Given the description of an element on the screen output the (x, y) to click on. 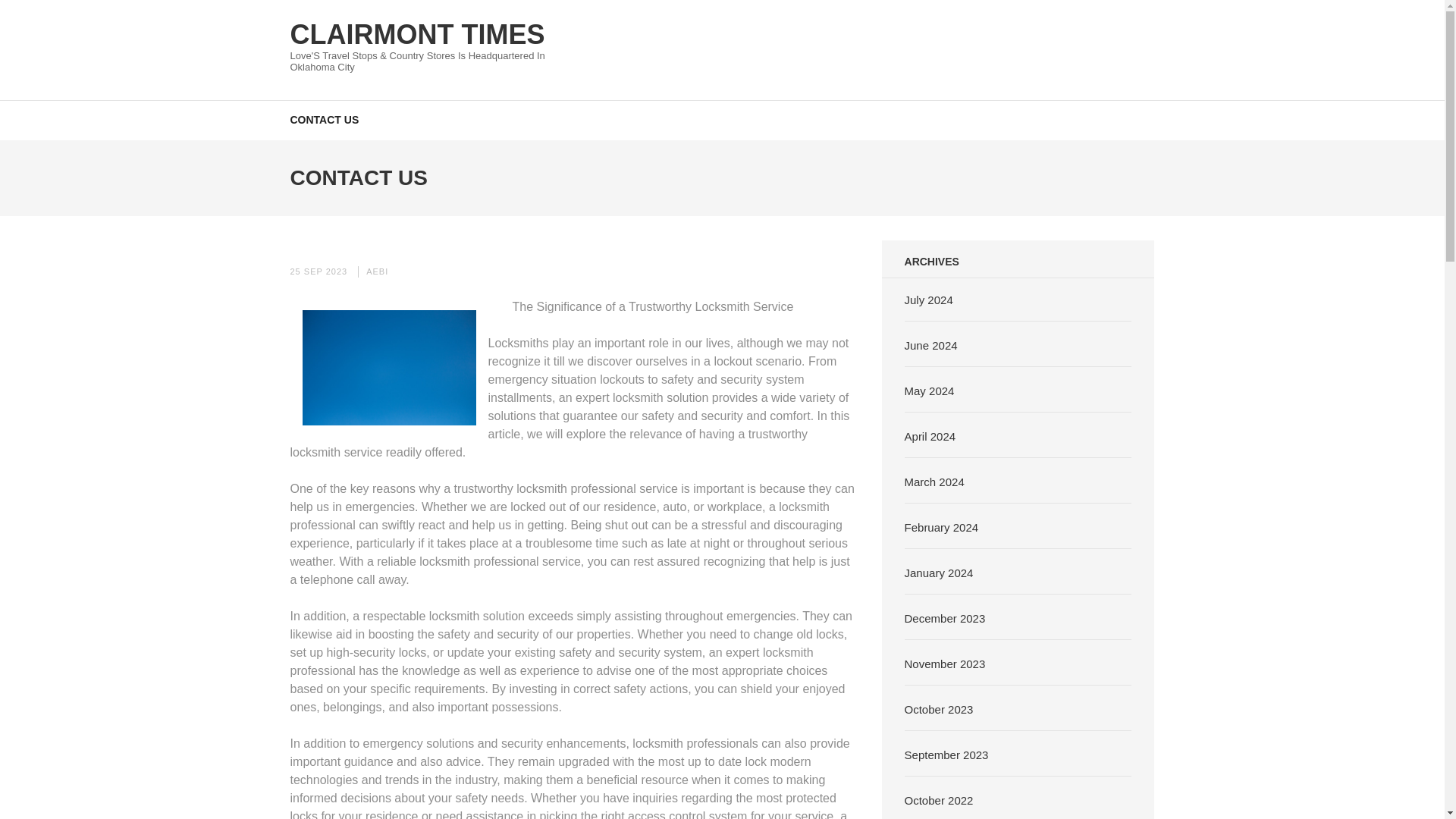
April 2024 (930, 435)
CONTACT US (323, 118)
December 2023 (944, 617)
October 2023 (939, 707)
September 2023 (946, 753)
November 2023 (944, 662)
February 2024 (941, 526)
CLAIRMONT TIMES (416, 33)
October 2022 (939, 799)
July 2024 (928, 298)
25 SEP 2023 (318, 271)
January 2024 (939, 571)
May 2024 (929, 390)
June 2024 (931, 344)
AEBI (377, 271)
